Given the description of an element on the screen output the (x, y) to click on. 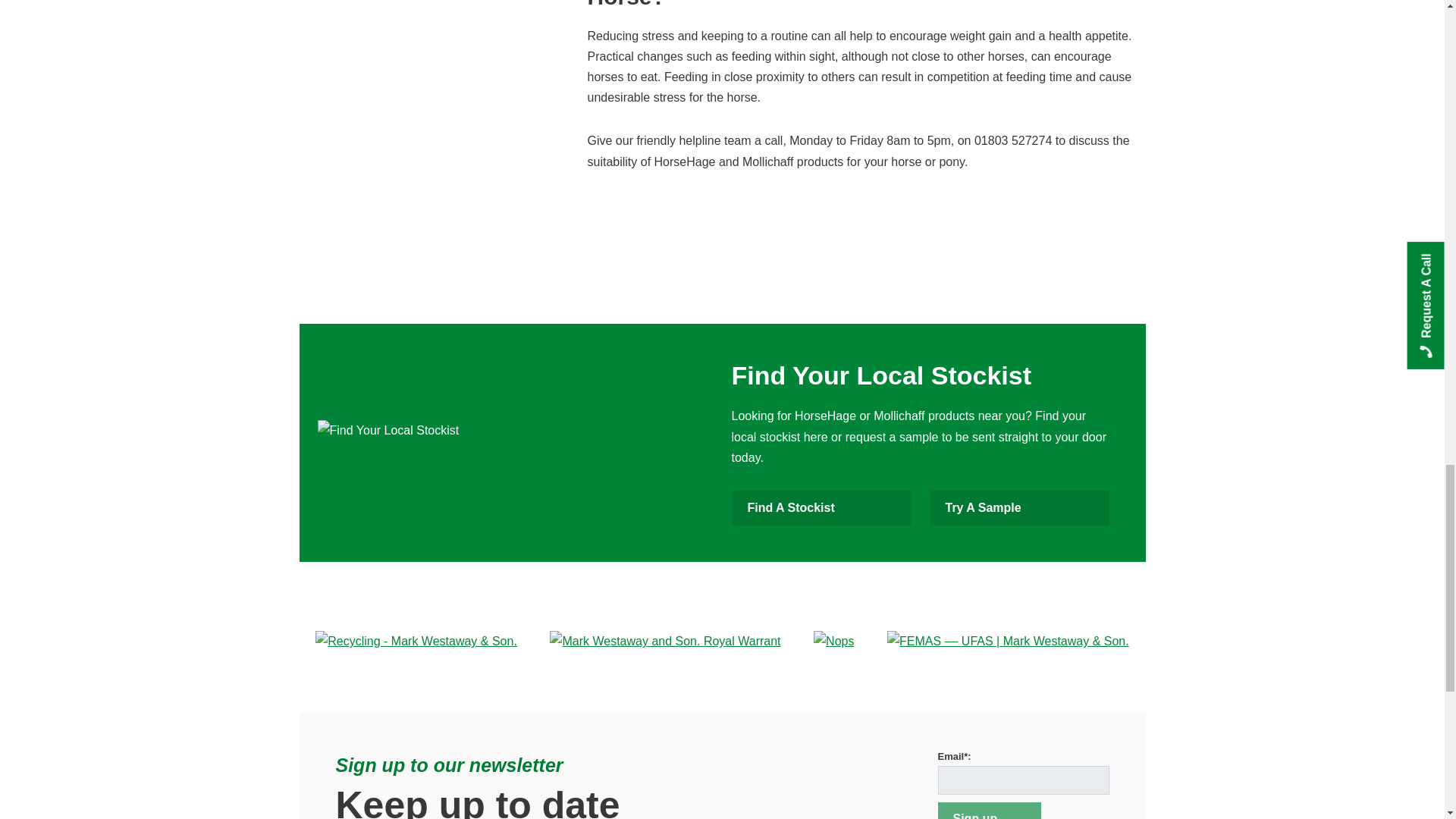
Find A Stockist (820, 507)
Try A Sample (1019, 507)
